Given the description of an element on the screen output the (x, y) to click on. 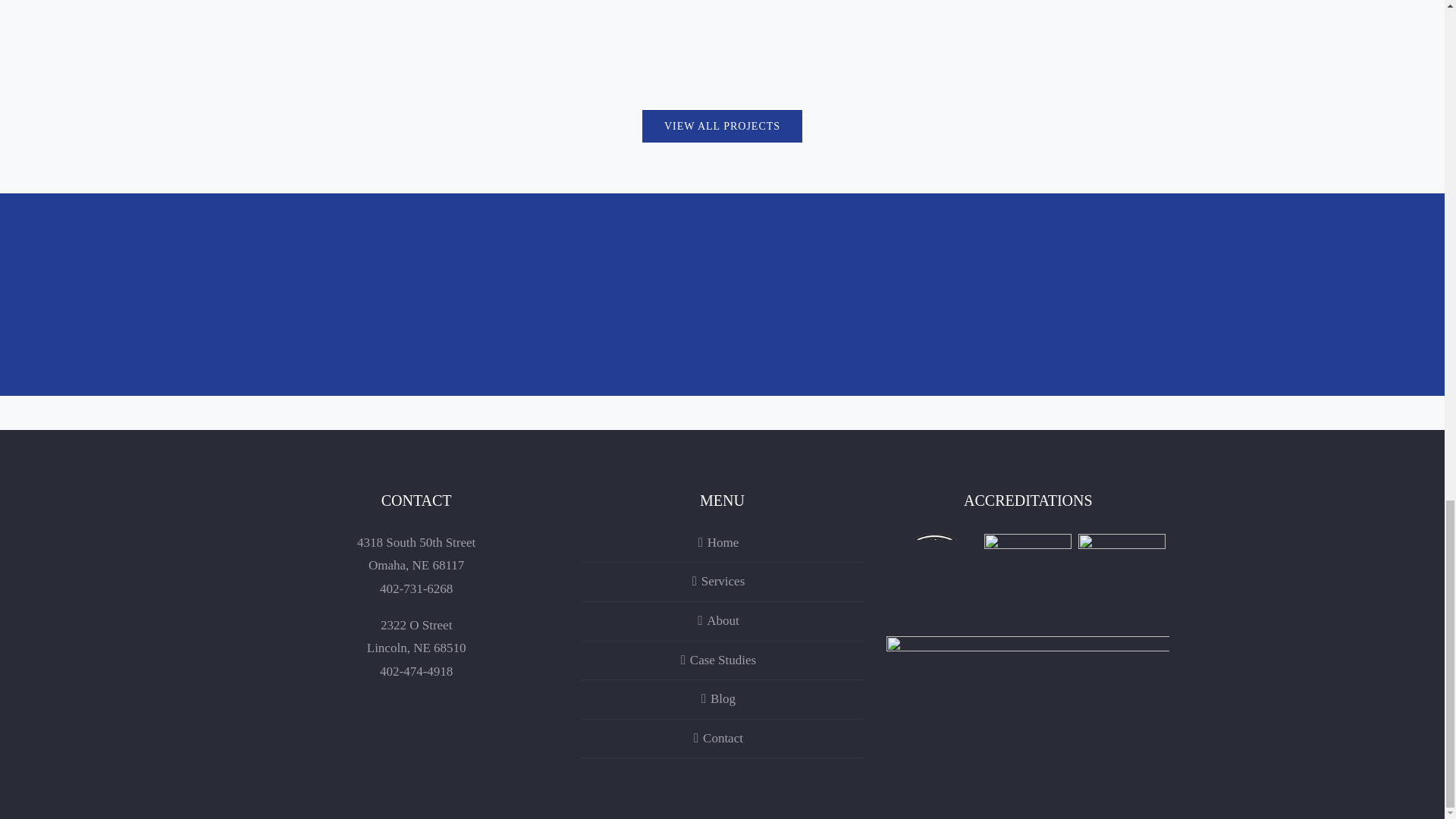
About (722, 621)
Services (722, 581)
VIEW ALL PROJECTS (721, 126)
Case Studies (722, 660)
Home (722, 543)
Blog (722, 699)
